Given the description of an element on the screen output the (x, y) to click on. 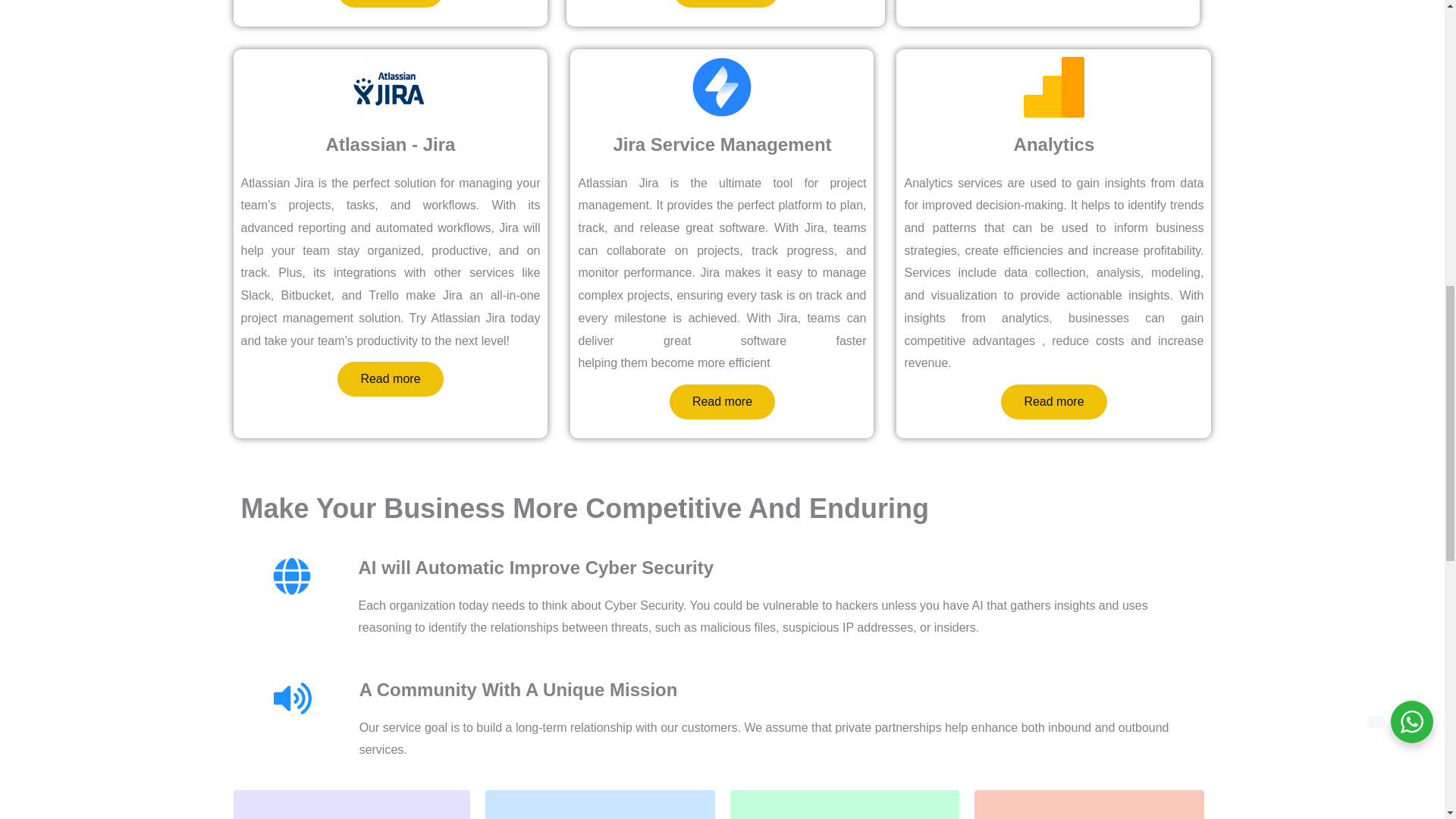
Read more (389, 3)
atlasian (390, 86)
google-analytics (1053, 86)
